Given the description of an element on the screen output the (x, y) to click on. 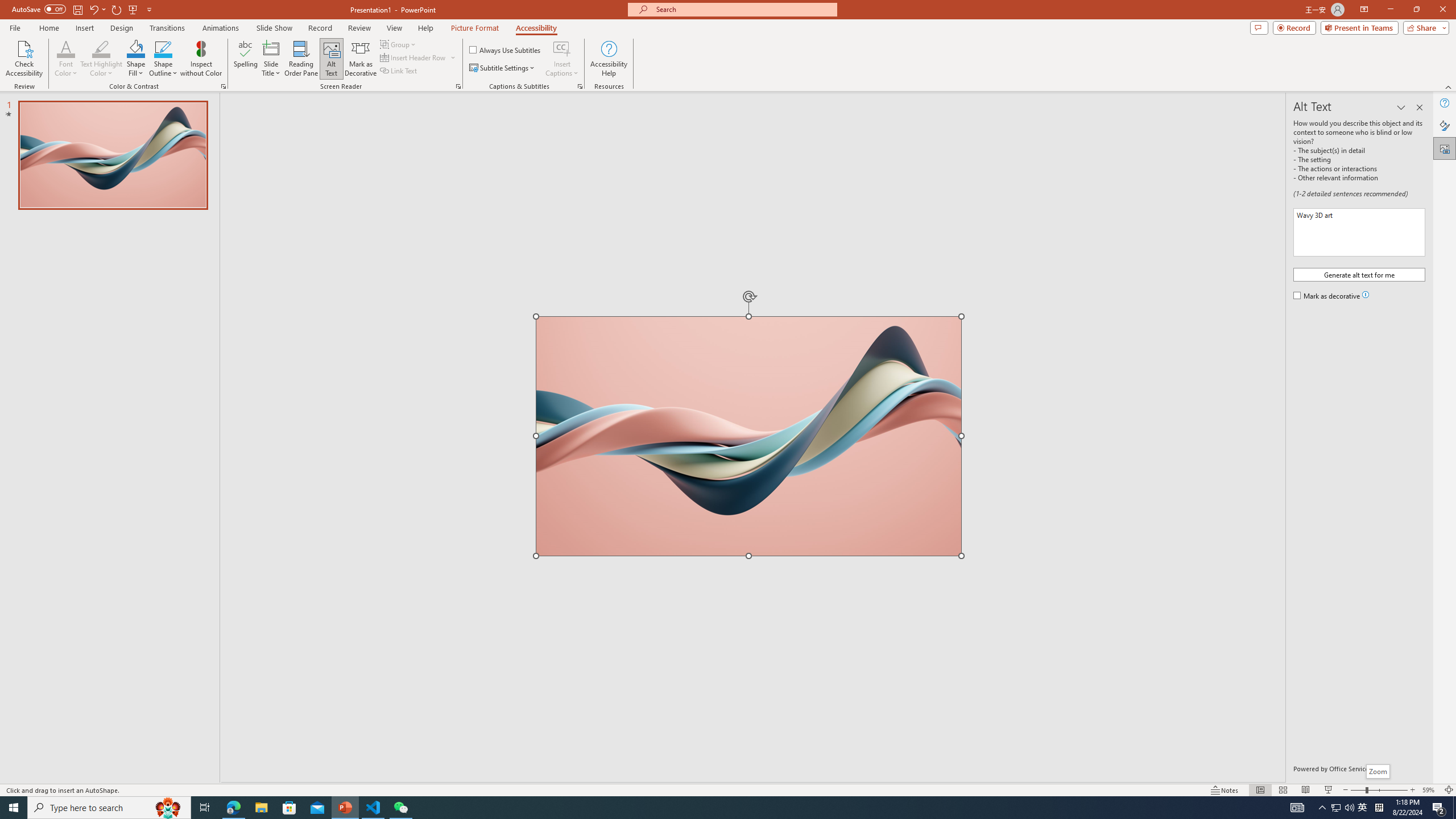
Reading Order Pane (301, 58)
Inspect without Color (201, 58)
Mark as decorative (1327, 296)
